Given the description of an element on the screen output the (x, y) to click on. 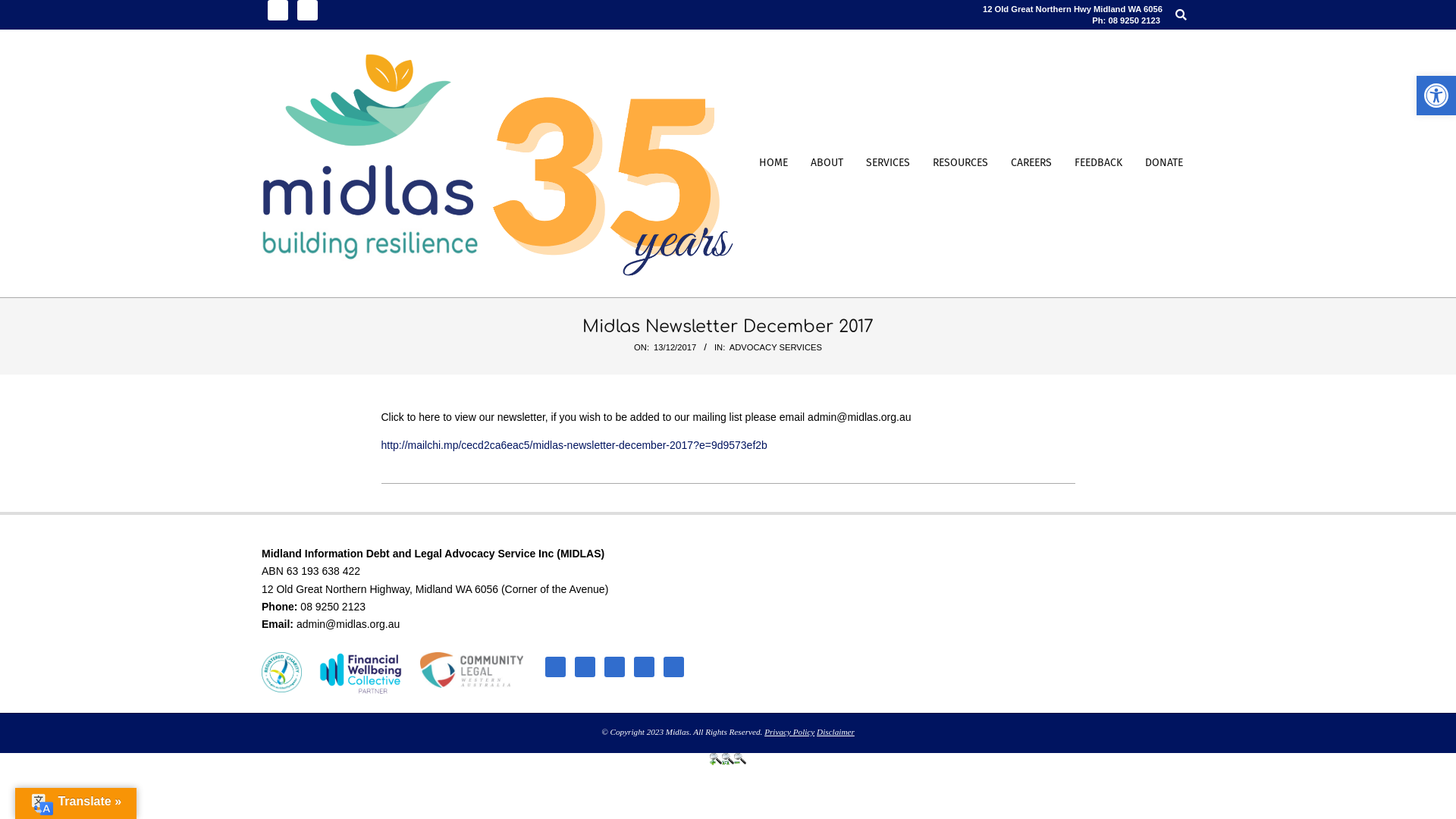
ADVOCACY SERVICES Element type: text (775, 346)
Reset font size Element type: hover (727, 761)
ABOUT Element type: text (826, 163)
SERVICES Element type: text (887, 163)
HOME Element type: text (773, 163)
Decrease font size Element type: hover (740, 761)
Increase font size Element type: hover (715, 761)
CAREERS Element type: text (1031, 163)
Disclaimer Element type: text (835, 731)
Facebook Element type: text (277, 10)
Twitter Element type: text (307, 10)
Privacy Policy Element type: text (789, 731)
DONATE Element type: text (1163, 163)
RESOURCES Element type: text (960, 163)
FEEDBACK Element type: text (1098, 163)
